Given the description of an element on the screen output the (x, y) to click on. 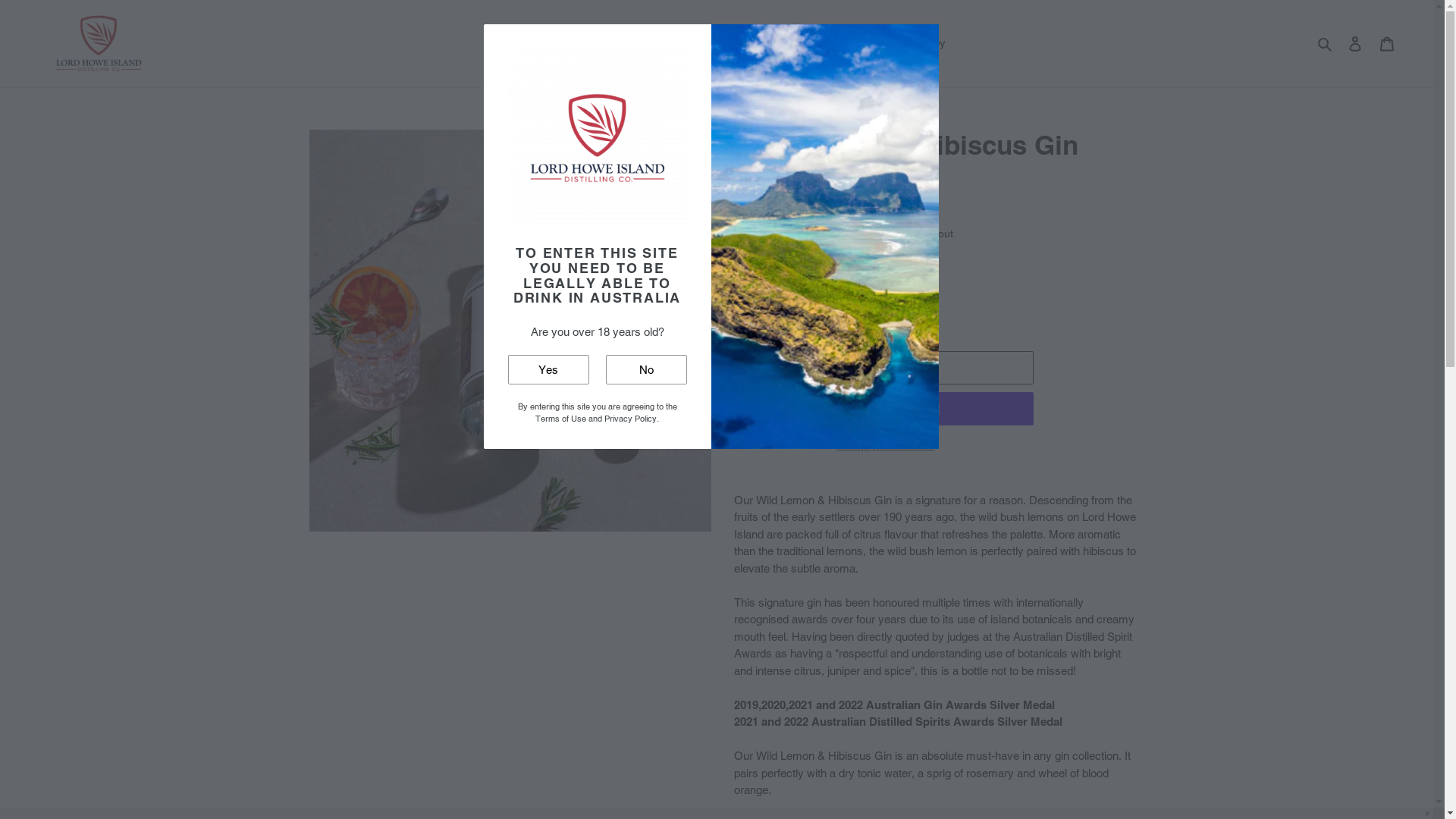
Spirits Element type: text (562, 43)
Cart Element type: text (1386, 43)
ADD TO CART Element type: text (884, 367)
Search Element type: text (1325, 43)
Yes Element type: text (548, 369)
Home Element type: text (513, 43)
Gifts & Merchandise Element type: text (647, 43)
Shipping Element type: text (821, 234)
Log in Element type: text (1355, 43)
No Element type: text (645, 369)
Sydney University Rugby Element type: text (882, 43)
Waratahs Rugby Element type: text (758, 43)
More payment options Element type: text (884, 445)
